Given the description of an element on the screen output the (x, y) to click on. 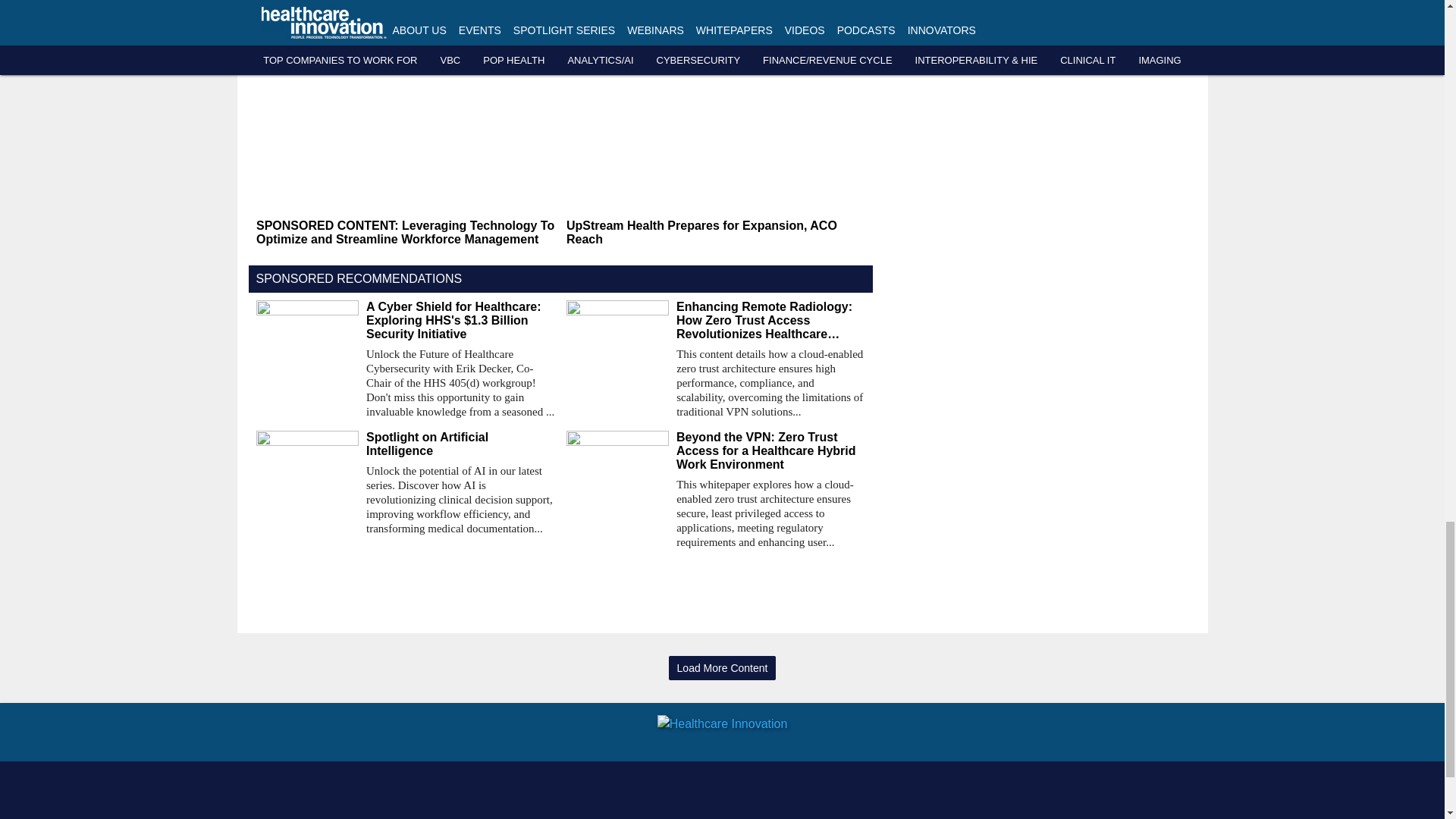
UpStream Health Prepares for Expansion, ACO Reach (715, 232)
Spotlight on Artificial Intelligence (459, 443)
